Given the description of an element on the screen output the (x, y) to click on. 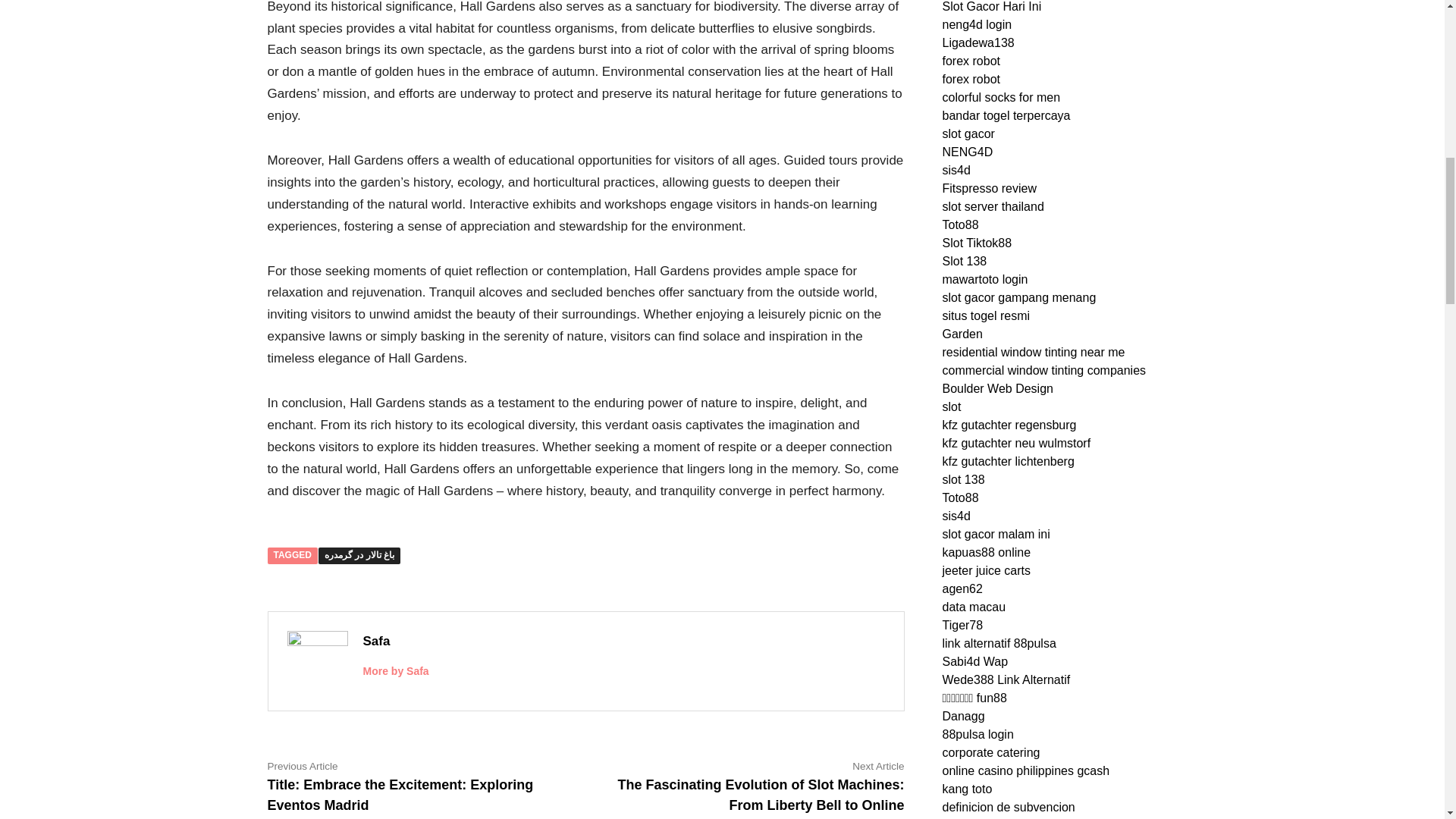
More by Safa (395, 671)
Safa (376, 640)
